Given the description of an element on the screen output the (x, y) to click on. 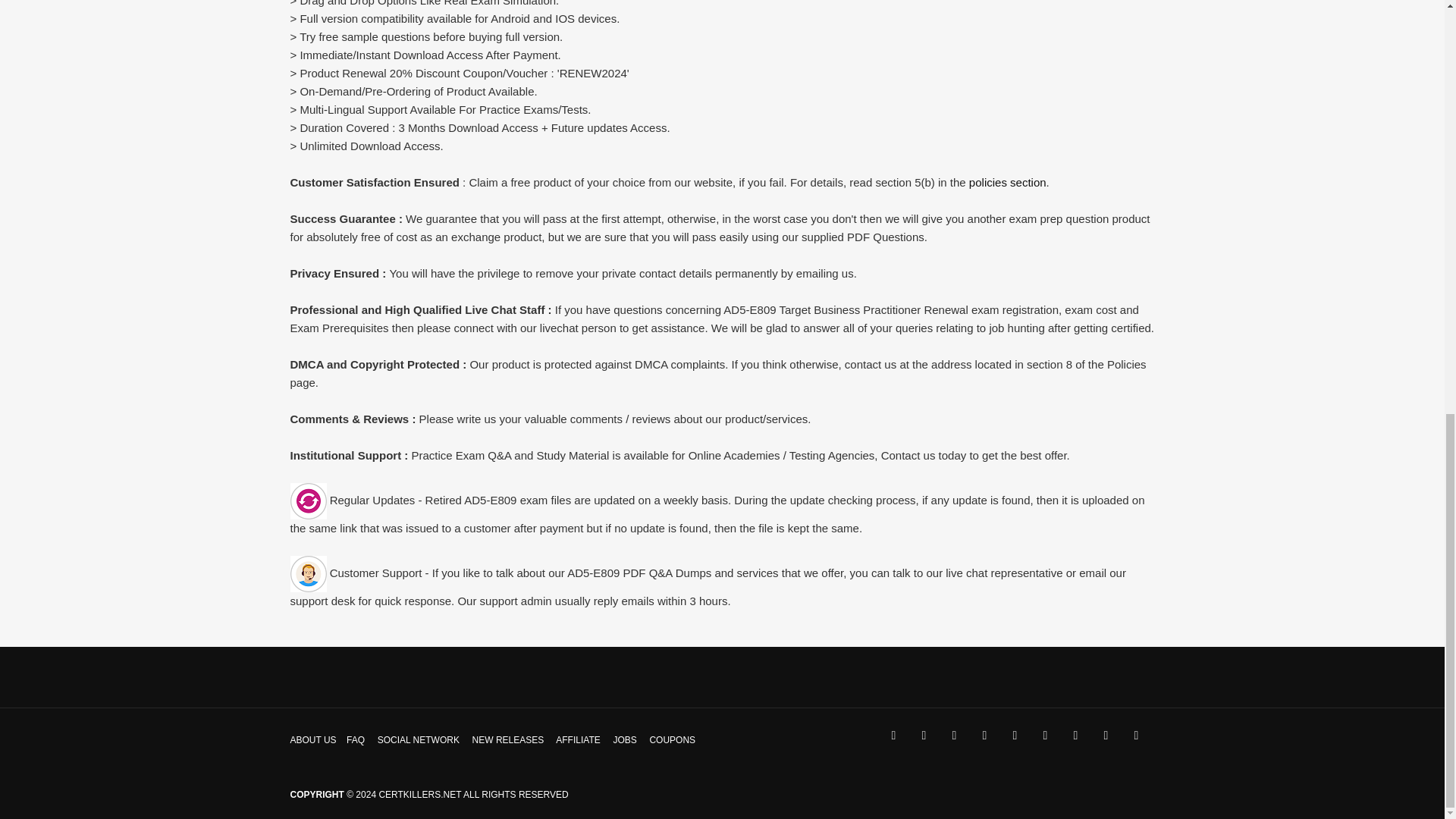
COUPONS (672, 739)
NEW RELEASES (507, 739)
SOCIAL NETWORK (418, 739)
policies section (1007, 182)
ABOUT US (312, 739)
FAQ (355, 739)
JOBS (624, 739)
AFFILIATE (577, 739)
